Given the description of an element on the screen output the (x, y) to click on. 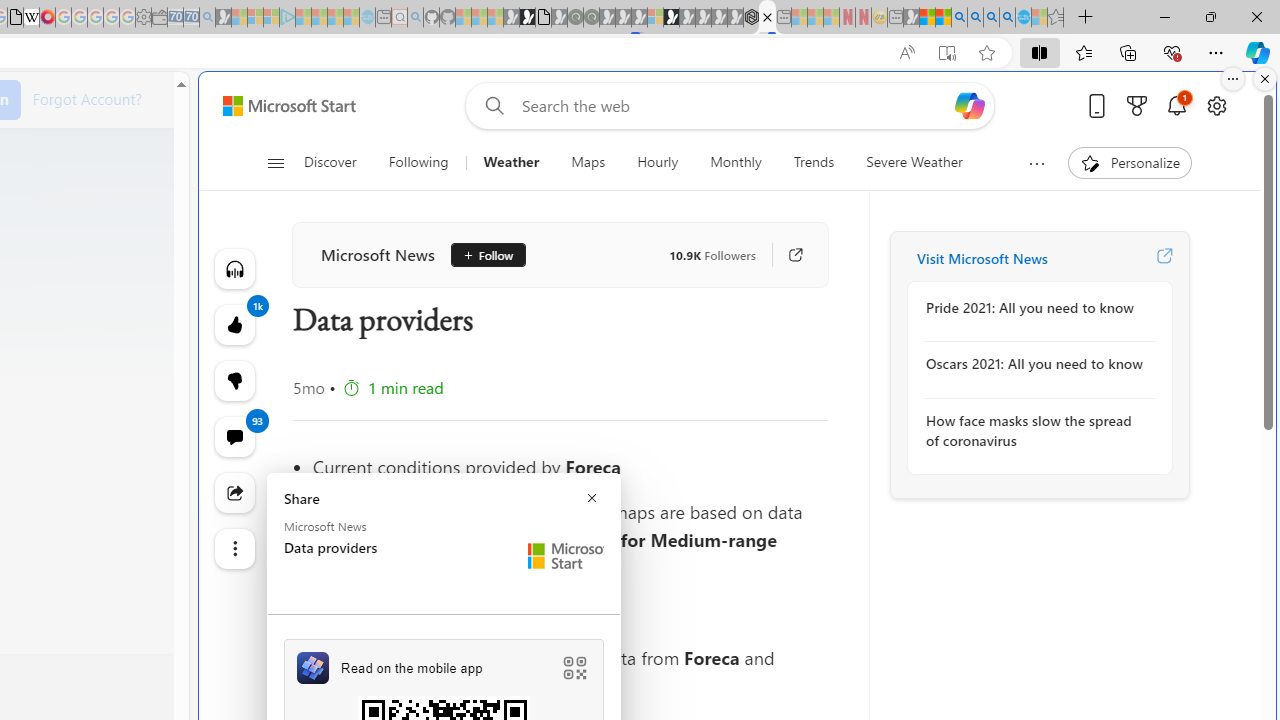
Visit Microsoft News website (1164, 258)
More options. (1233, 79)
Oscars 2021: All you need to know (1034, 364)
Current conditions provided by Foreca (570, 466)
